Given the description of an element on the screen output the (x, y) to click on. 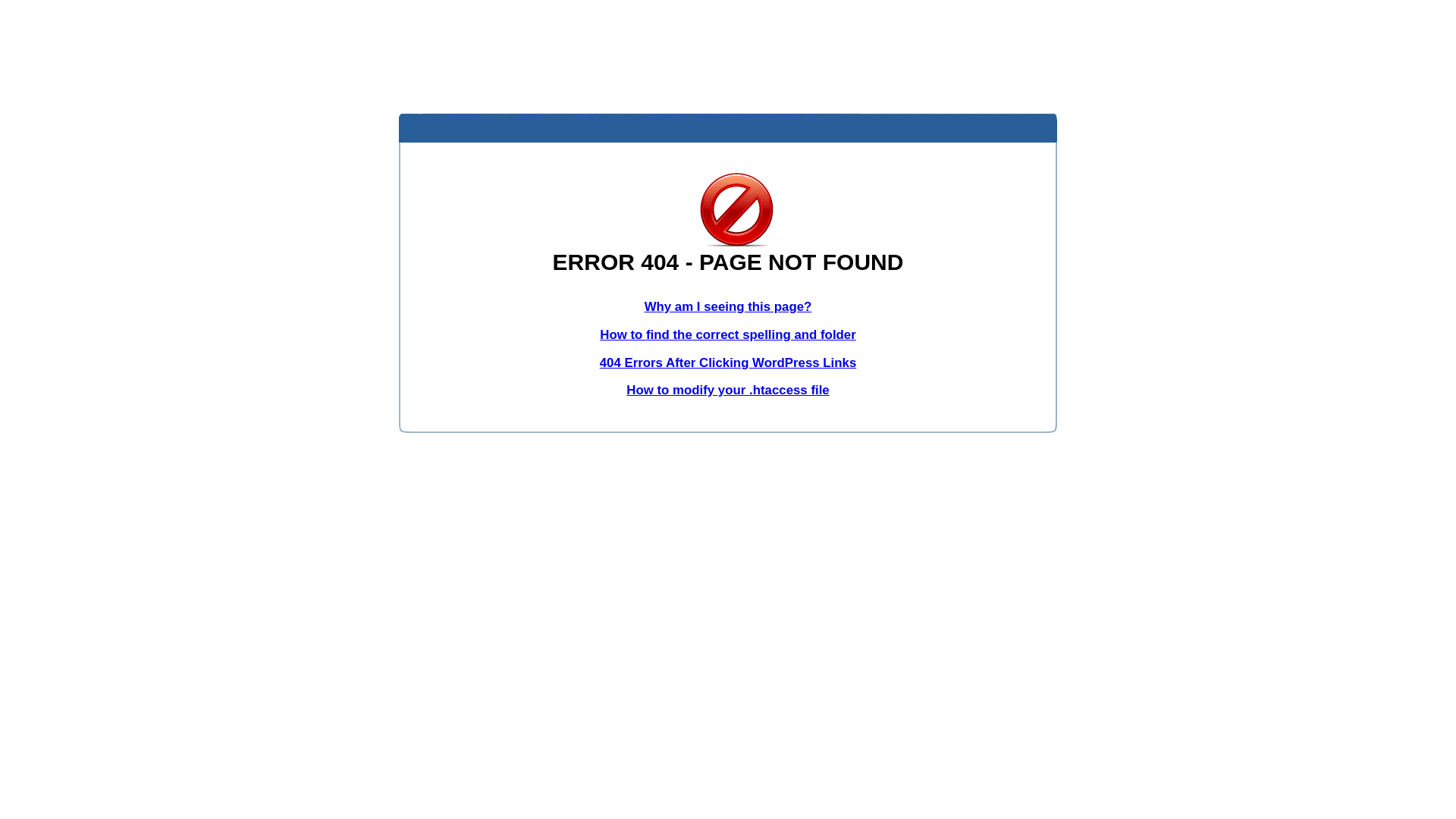
How to find the correct spelling and folder Element type: text (727, 334)
How to modify your .htaccess file Element type: text (727, 389)
404 Errors After Clicking WordPress Links Element type: text (727, 362)
Why am I seeing this page? Element type: text (728, 306)
